Given the description of an element on the screen output the (x, y) to click on. 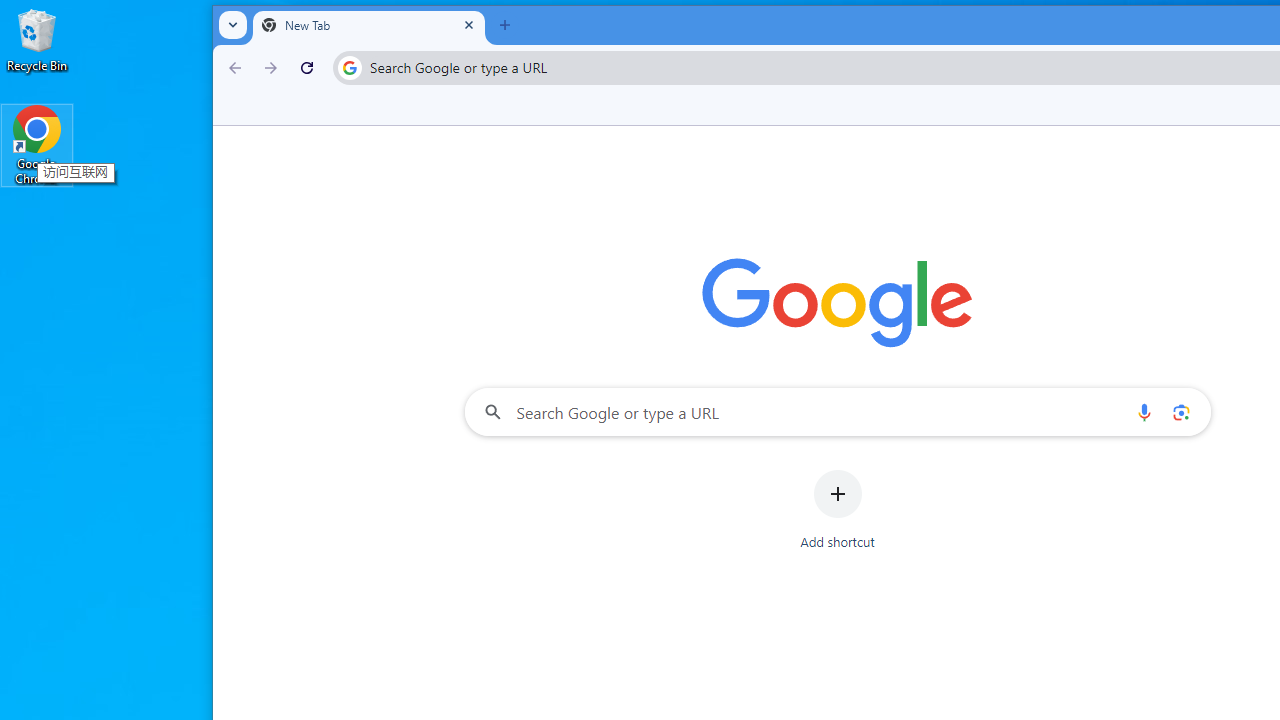
Google Chrome (37, 144)
Recycle Bin (37, 39)
